Given the description of an element on the screen output the (x, y) to click on. 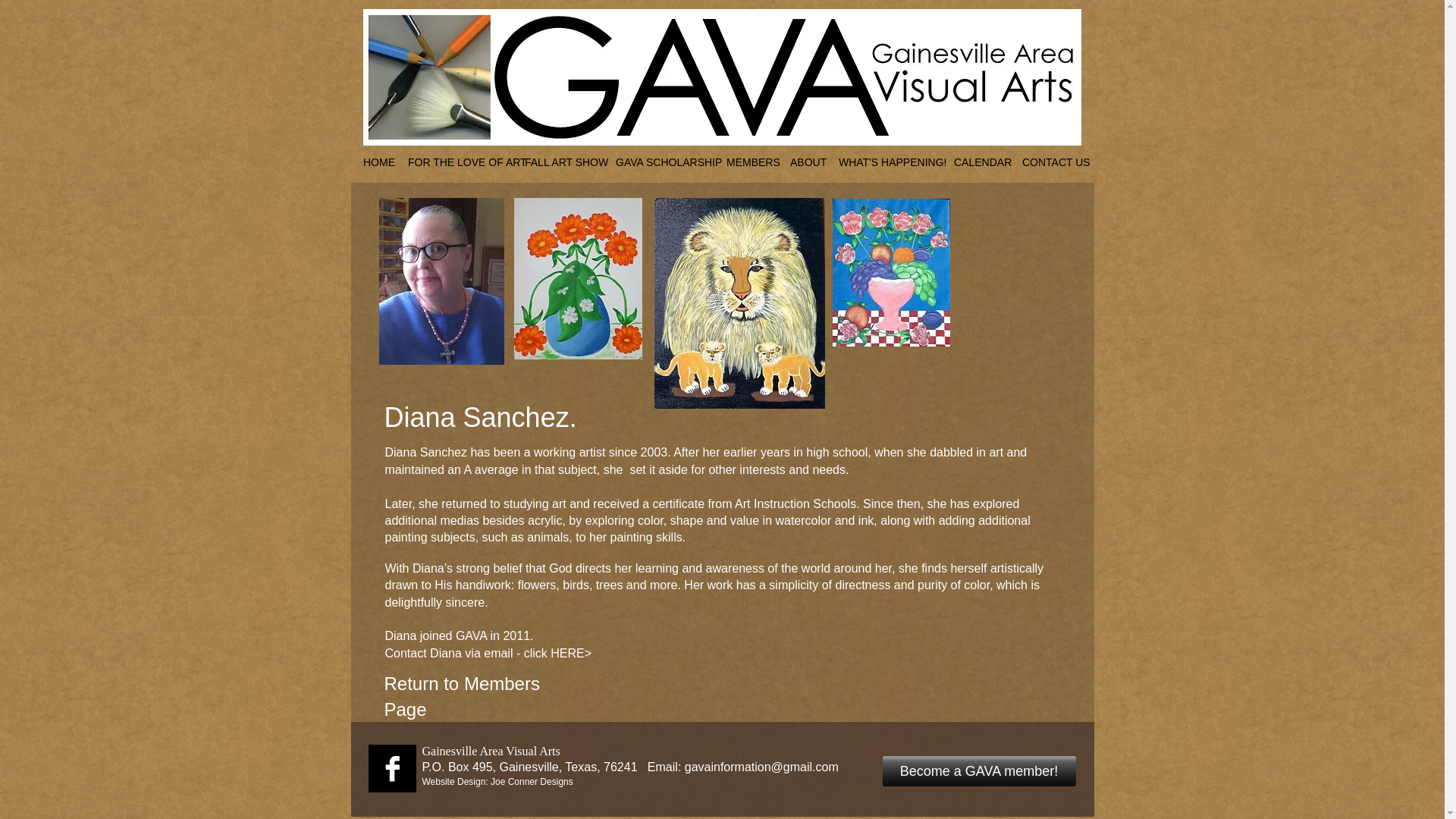
Become a GAVA member! (978, 770)
WHAT'S HAPPENING! (886, 162)
CONTACT US (1051, 162)
CALENDAR (978, 162)
Joe Conner Designs (531, 781)
ABOUT (805, 162)
HOME (376, 162)
MEMBERS (749, 162)
FOR THE LOVE OF ART (457, 162)
FALL ART SHOW (561, 162)
